Given the description of an element on the screen output the (x, y) to click on. 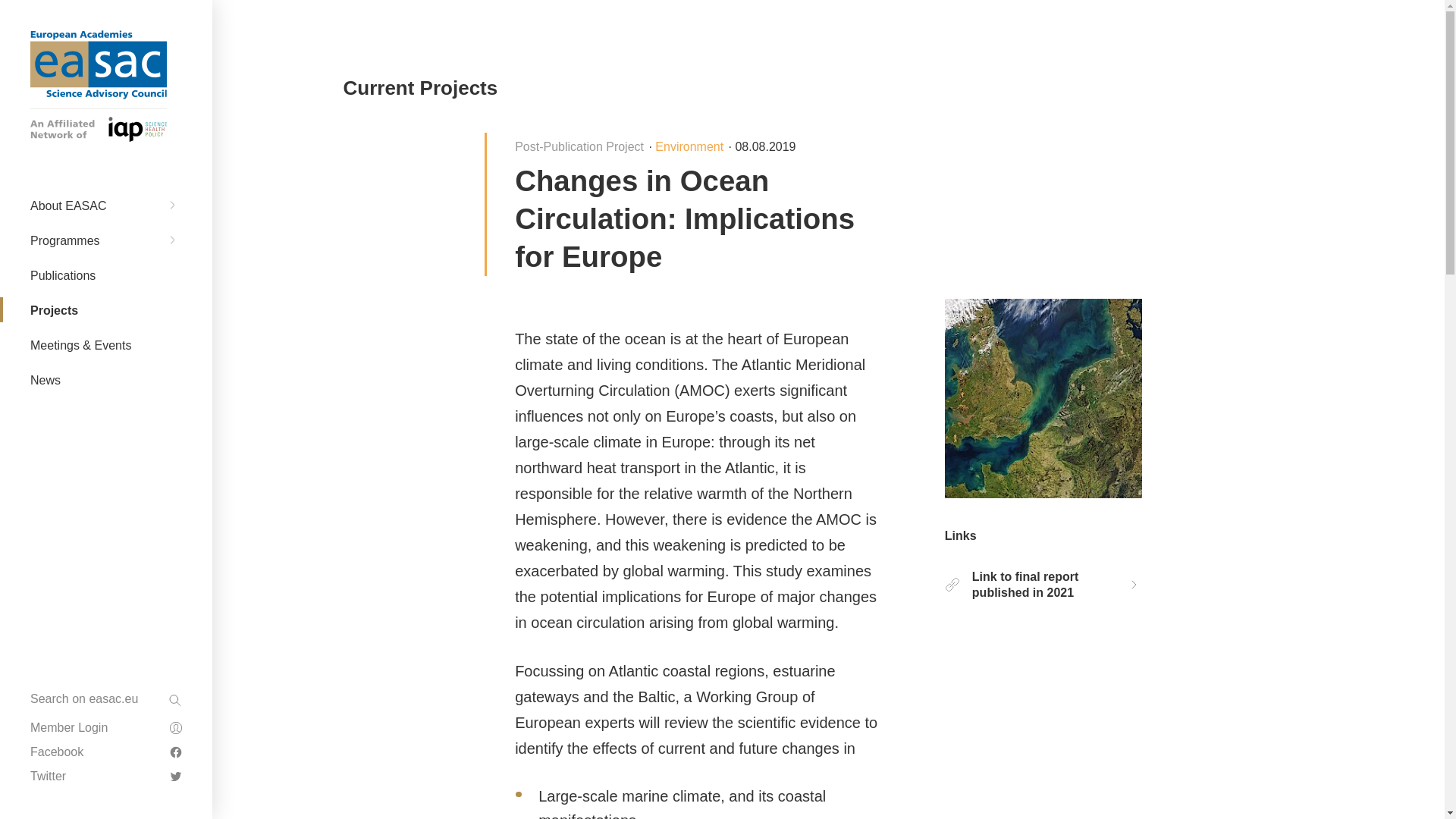
Steering Panel Members (106, 659)
Environment (106, 577)
Programme Director (106, 498)
How We Are Financed (106, 239)
Secretariat (106, 448)
Past President (106, 378)
Energy (106, 390)
President (106, 343)
Home (98, 64)
Publications (106, 607)
Steering Panel Members (106, 473)
Projects (106, 633)
Link to final report published in 2021 (1042, 583)
Cooperation (106, 553)
Publications (106, 260)
